Given the description of an element on the screen output the (x, y) to click on. 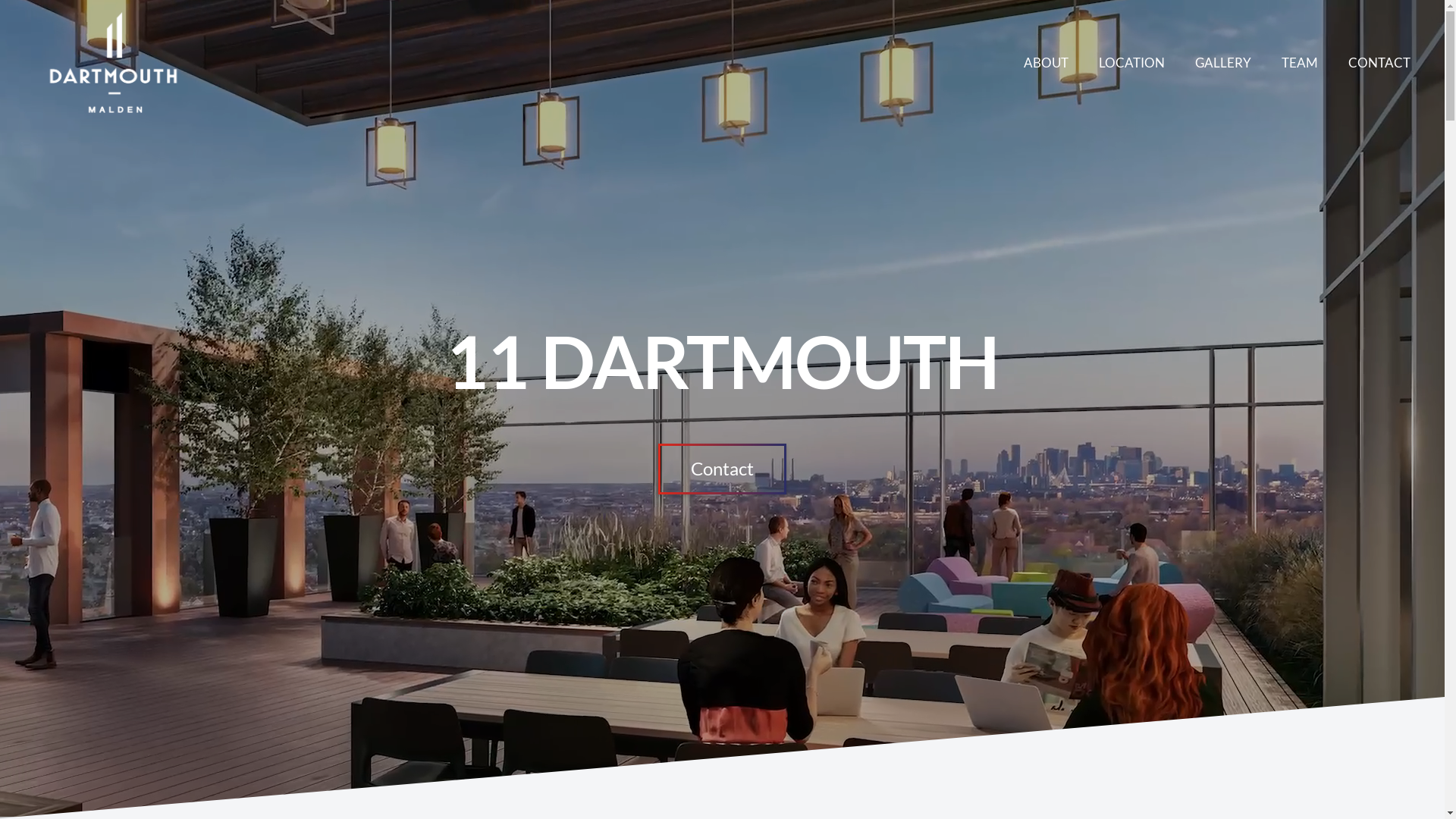
GALLERY Element type: text (1222, 62)
TEAM Element type: text (1299, 62)
ABOUT Element type: text (1045, 62)
Contact Element type: text (722, 468)
LOCATION Element type: text (1130, 62)
CONTACT Element type: text (1379, 62)
